Given the description of an element on the screen output the (x, y) to click on. 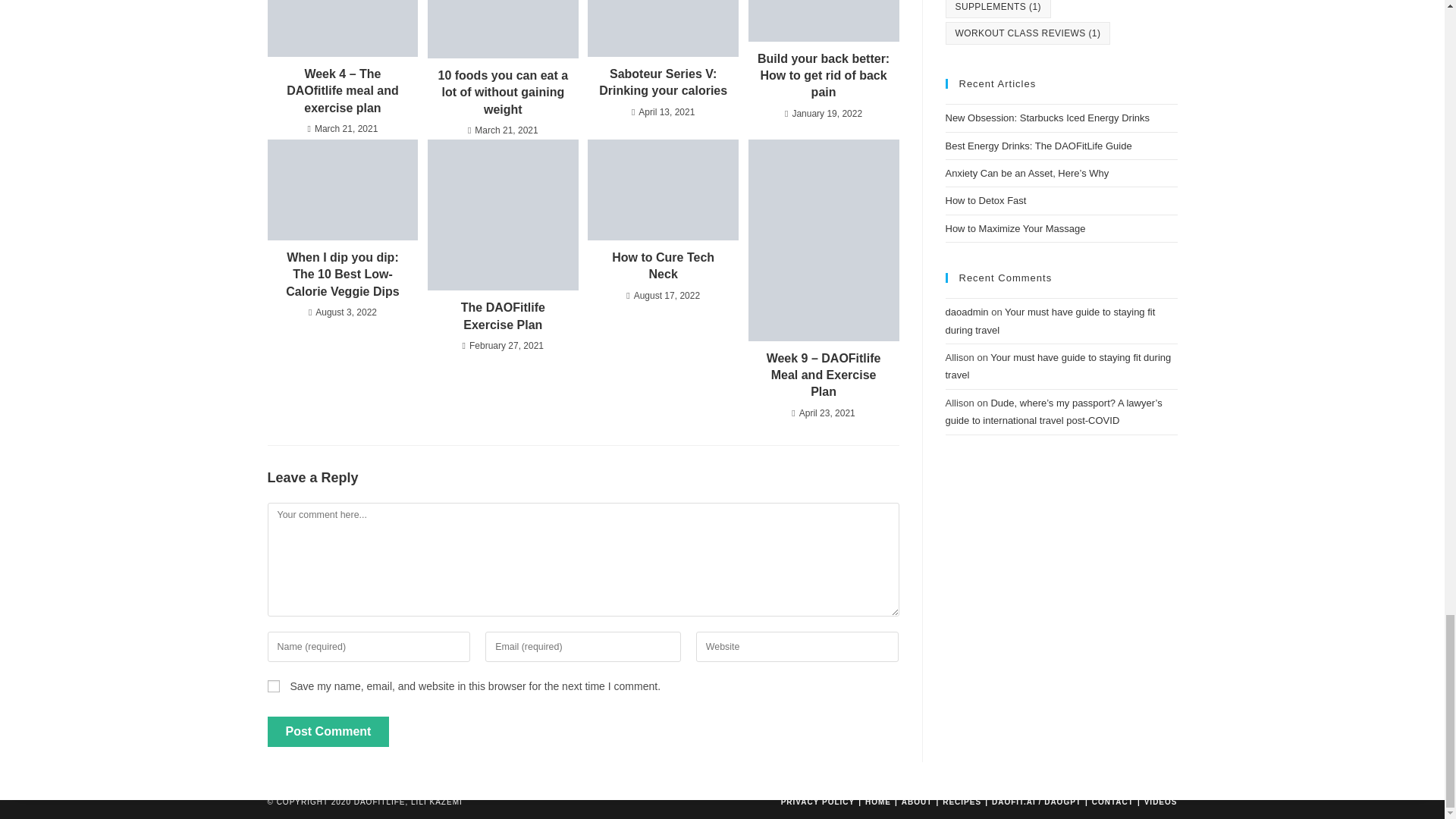
Post Comment (327, 731)
yes (272, 686)
